Given the description of an element on the screen output the (x, y) to click on. 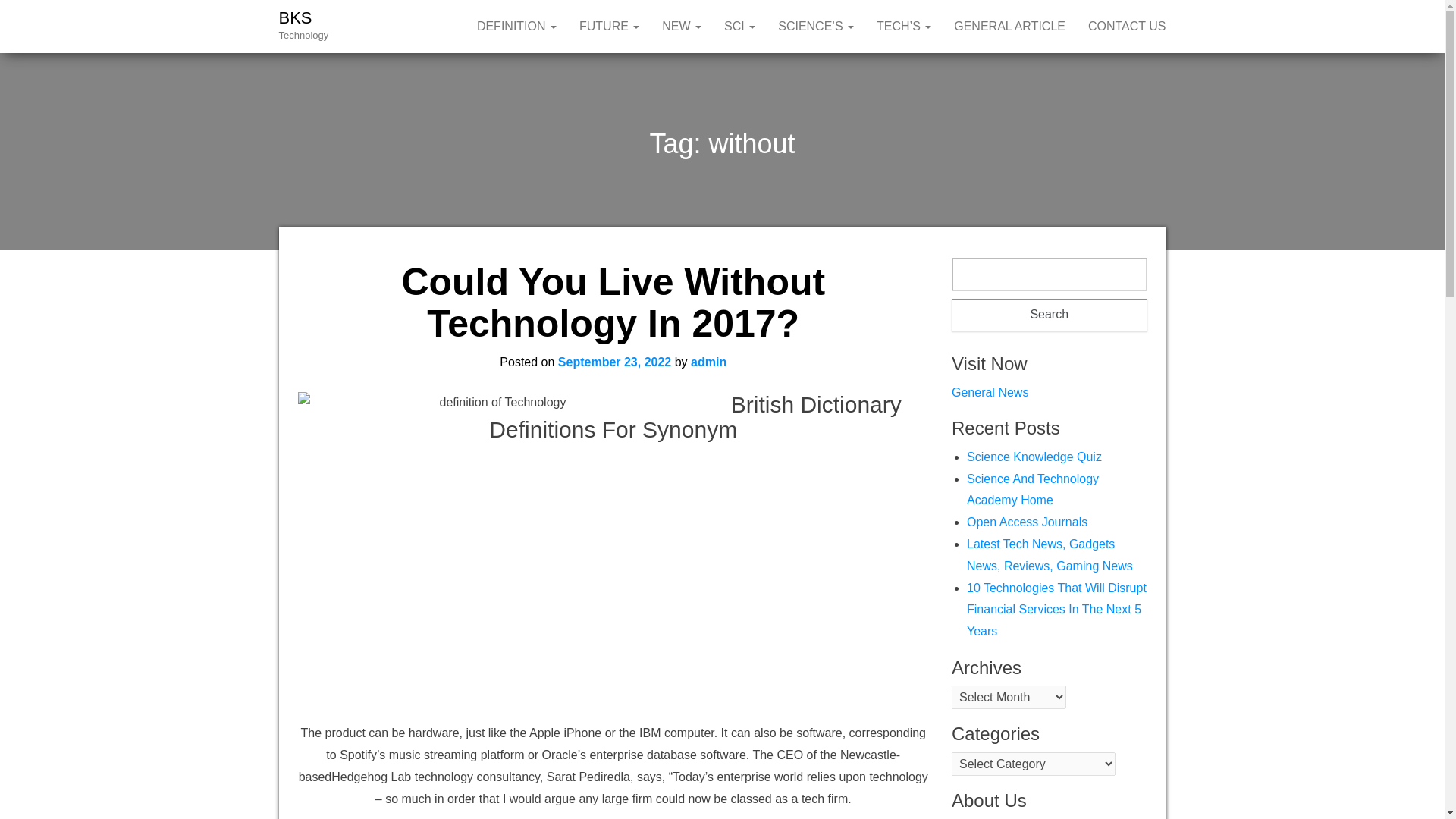
GENERAL ARTICLE (1009, 26)
admin (708, 362)
NEW (681, 26)
Definition (516, 26)
September 23, 2022 (614, 362)
BKS (296, 17)
New (681, 26)
FUTURE (608, 26)
Could You Live Without Technology In 2017? (613, 302)
SCI (740, 26)
Search (1049, 314)
DEFINITION (516, 26)
Future (608, 26)
CONTACT US (1127, 26)
Sci (740, 26)
